Given the description of an element on the screen output the (x, y) to click on. 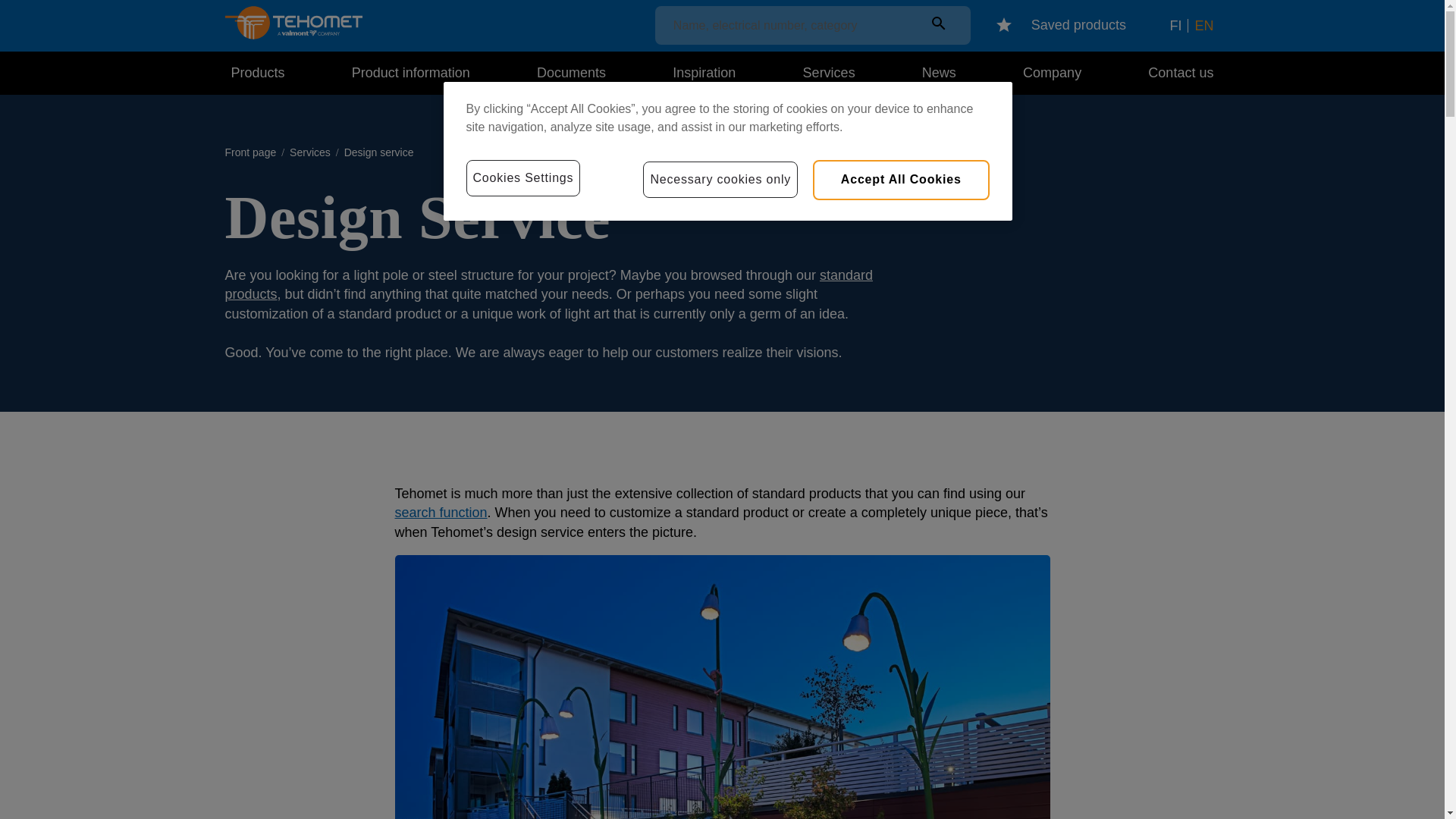
FI (1175, 25)
Products (260, 73)
Services (309, 159)
Design service (378, 152)
EN (1204, 25)
Saved products (1059, 25)
Tehomet (292, 34)
